Given the description of an element on the screen output the (x, y) to click on. 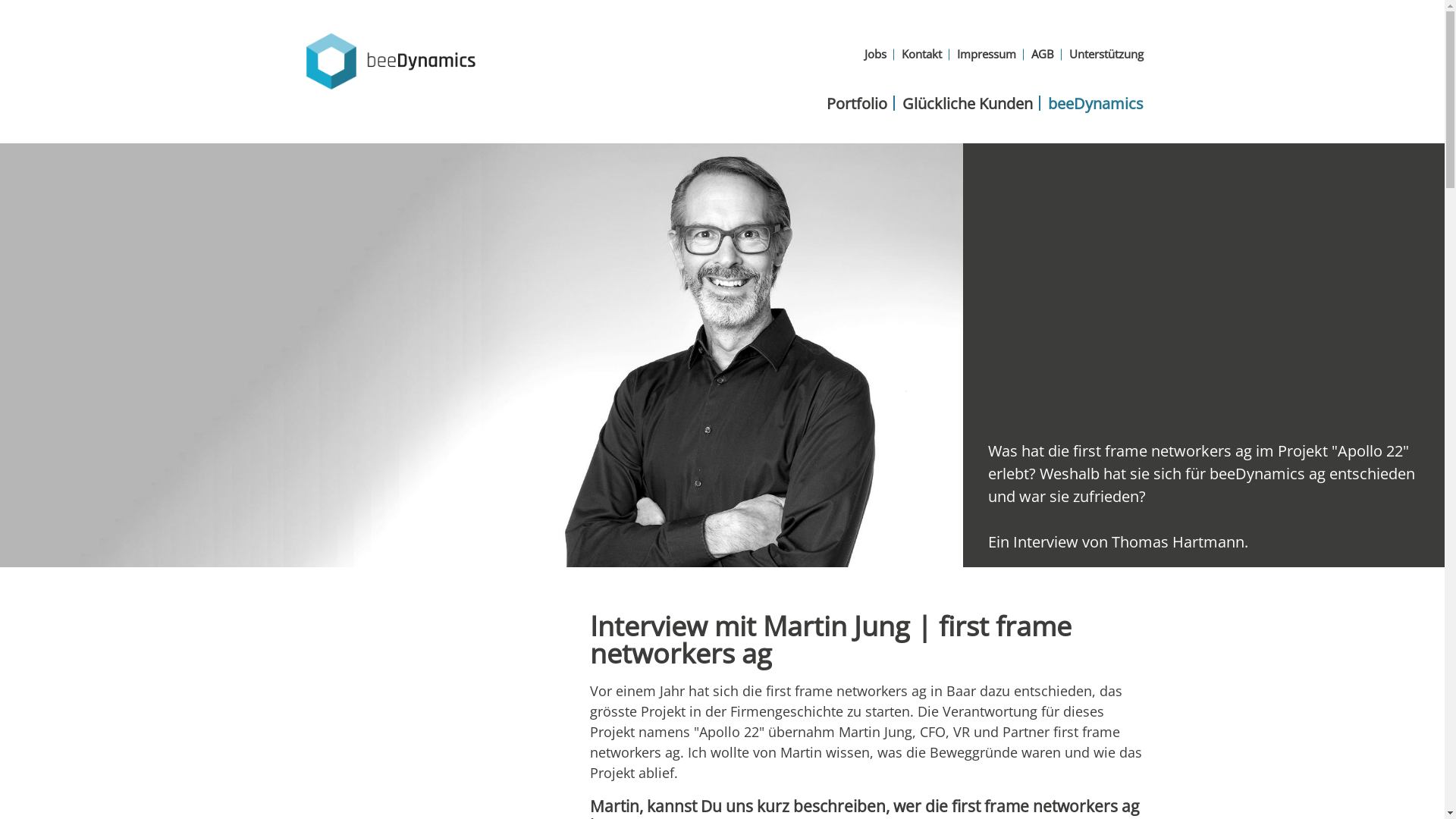
Impressum Element type: text (986, 53)
AGB Element type: text (1042, 53)
Jobs Element type: text (875, 53)
beeDynamics Element type: text (1095, 102)
Kontakt Element type: text (920, 53)
Portfolio Element type: text (856, 102)
